Given the description of an element on the screen output the (x, y) to click on. 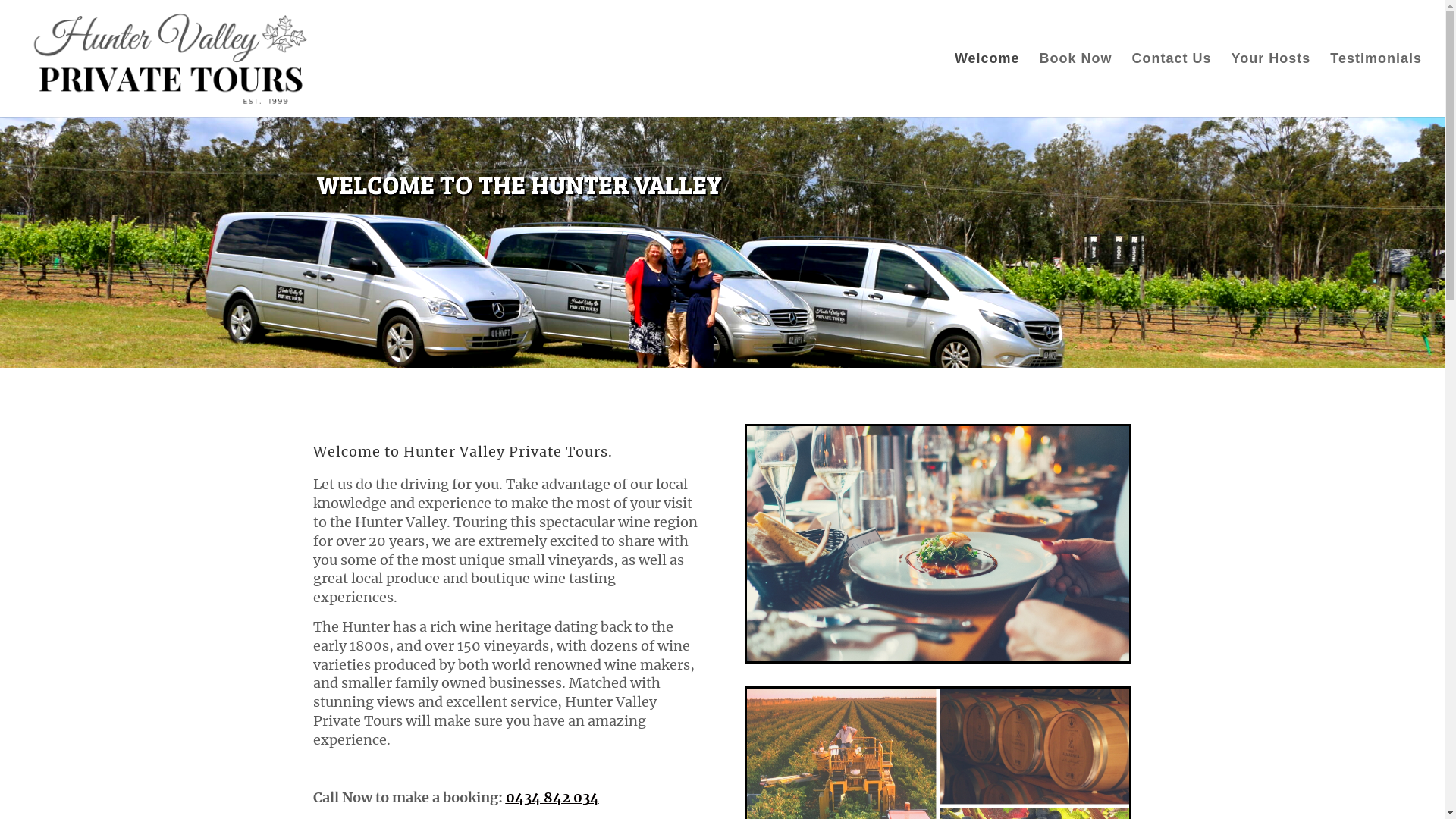
Contact Us Element type: text (1171, 84)
Your Hosts Element type: text (1271, 84)
Testimonials Element type: text (1375, 84)
0434 842 034 Element type: text (551, 797)
Book Now Element type: text (1075, 84)
Welcome Element type: text (986, 84)
